Given the description of an element on the screen output the (x, y) to click on. 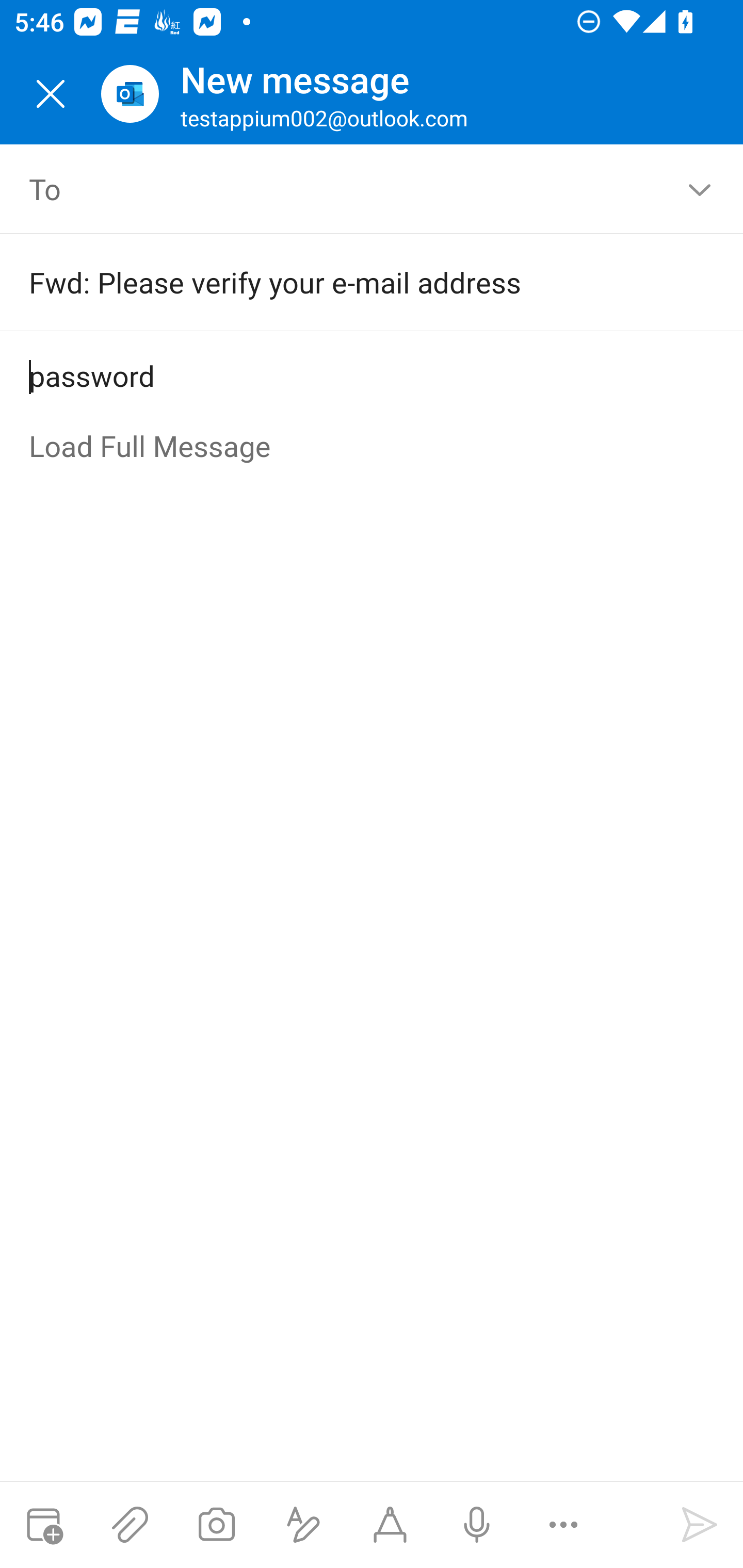
Close (50, 93)
Fwd: Please verify your e-mail address (342, 281)
password (372, 377)
Load Full Message (372, 447)
Attach meeting (43, 1524)
Attach files (129, 1524)
Take a photo (216, 1524)
Show formatting options (303, 1524)
Start Ink compose (389, 1524)
Dictation (476, 1524)
More options (563, 1524)
Send (699, 1524)
